Given the description of an element on the screen output the (x, y) to click on. 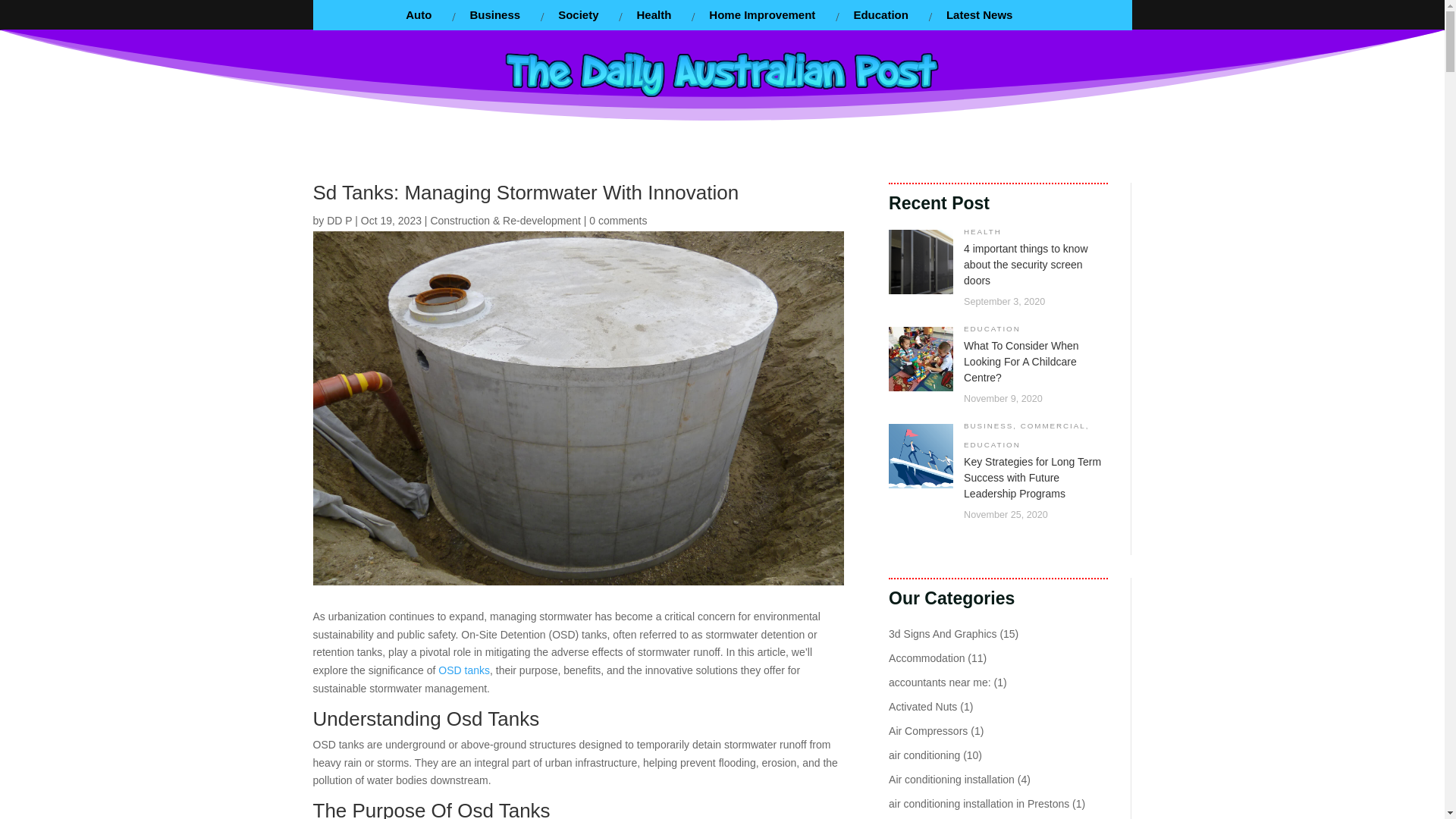
November 9, 2020 (1002, 398)
COMMERCIAL (1053, 425)
Auto (418, 15)
Posts by DD P (339, 220)
DD P (339, 220)
EDUCATION (991, 328)
HEALTH (982, 231)
0 comments (617, 220)
Business (494, 15)
Accommodation (925, 657)
November 25, 2020 (1005, 514)
Health (653, 15)
newlogo (722, 73)
Air conditioning installation (951, 779)
accountants near me: (939, 682)
